Given the description of an element on the screen output the (x, y) to click on. 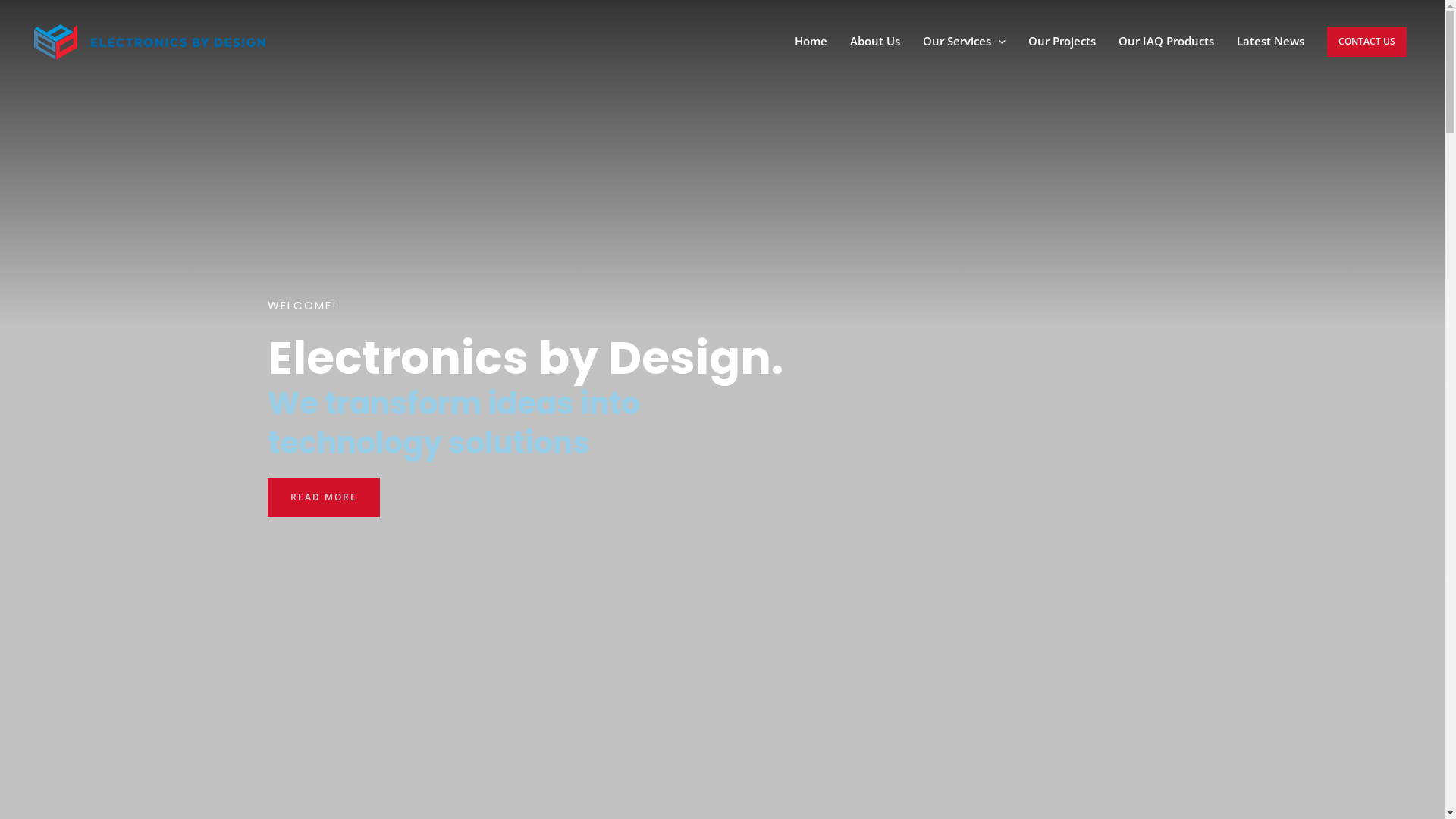
Latest News Element type: text (1270, 41)
About Us Element type: text (874, 41)
READ MORE Element type: text (322, 497)
Our Projects Element type: text (1061, 41)
CONTACT US Element type: text (1366, 41)
Our Services Element type: text (963, 41)
Home Element type: text (810, 41)
Our IAQ Products Element type: text (1166, 41)
